Given the description of an element on the screen output the (x, y) to click on. 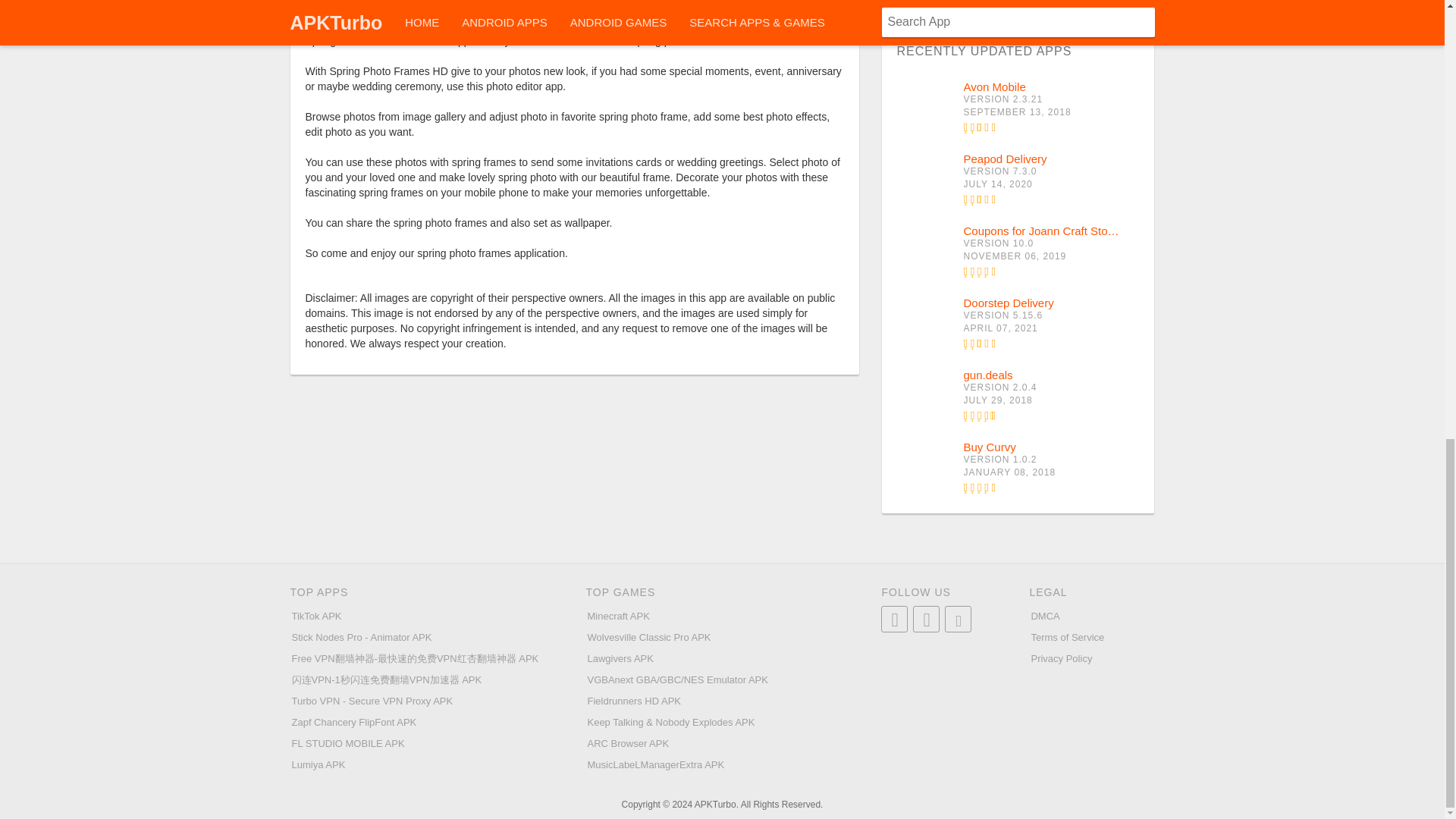
TikTok APK (315, 616)
DESCRIPTION (475, 9)
WHAT'S NEW (674, 9)
